Given the description of an element on the screen output the (x, y) to click on. 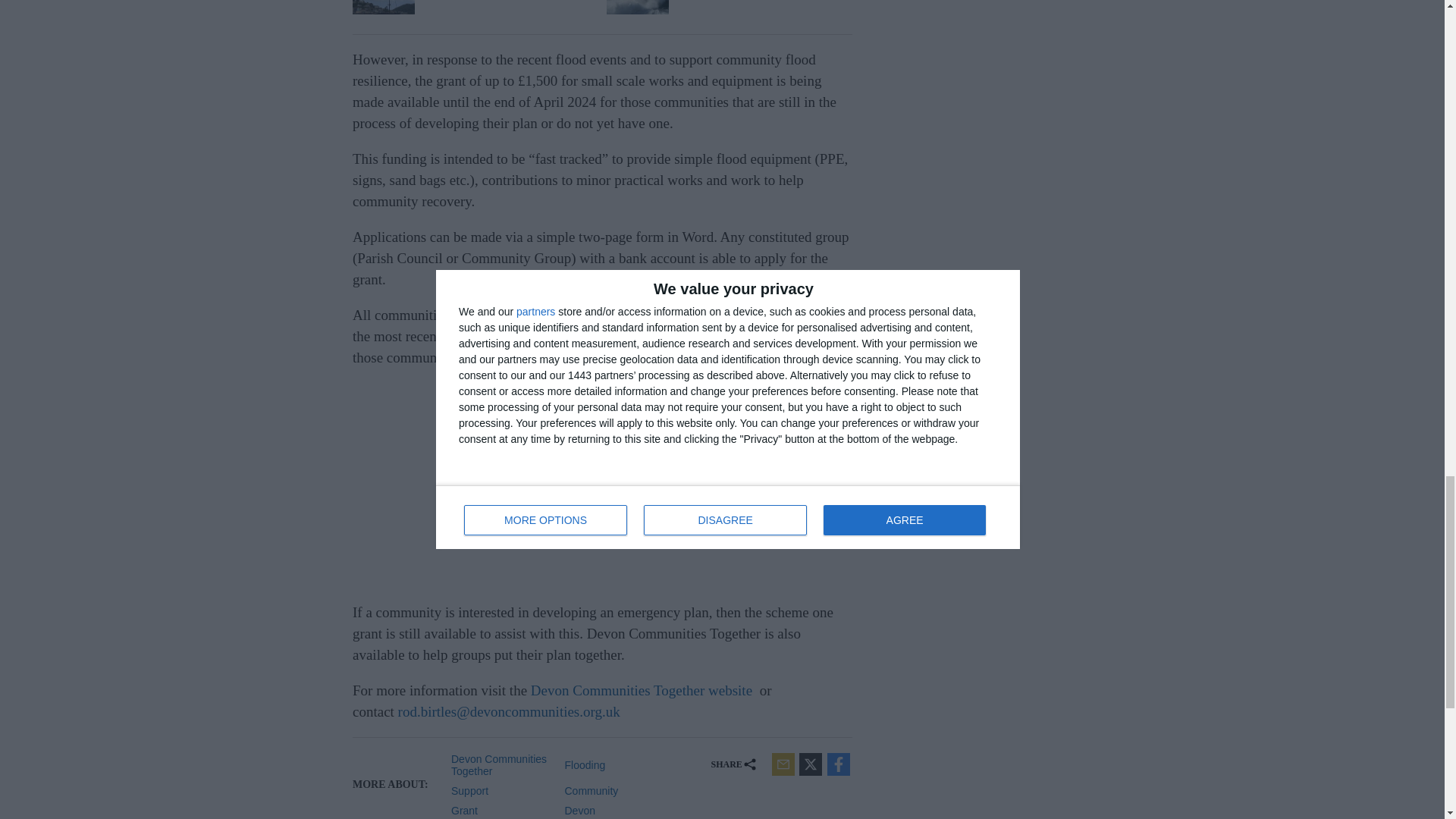
Dartmouth Park and Ride proposals (473, 7)
Flooding (615, 764)
Devon Communities Together website (641, 690)
RNLI celebrated by Salcombe Gin (727, 7)
Devon Communities Together (502, 764)
